Given the description of an element on the screen output the (x, y) to click on. 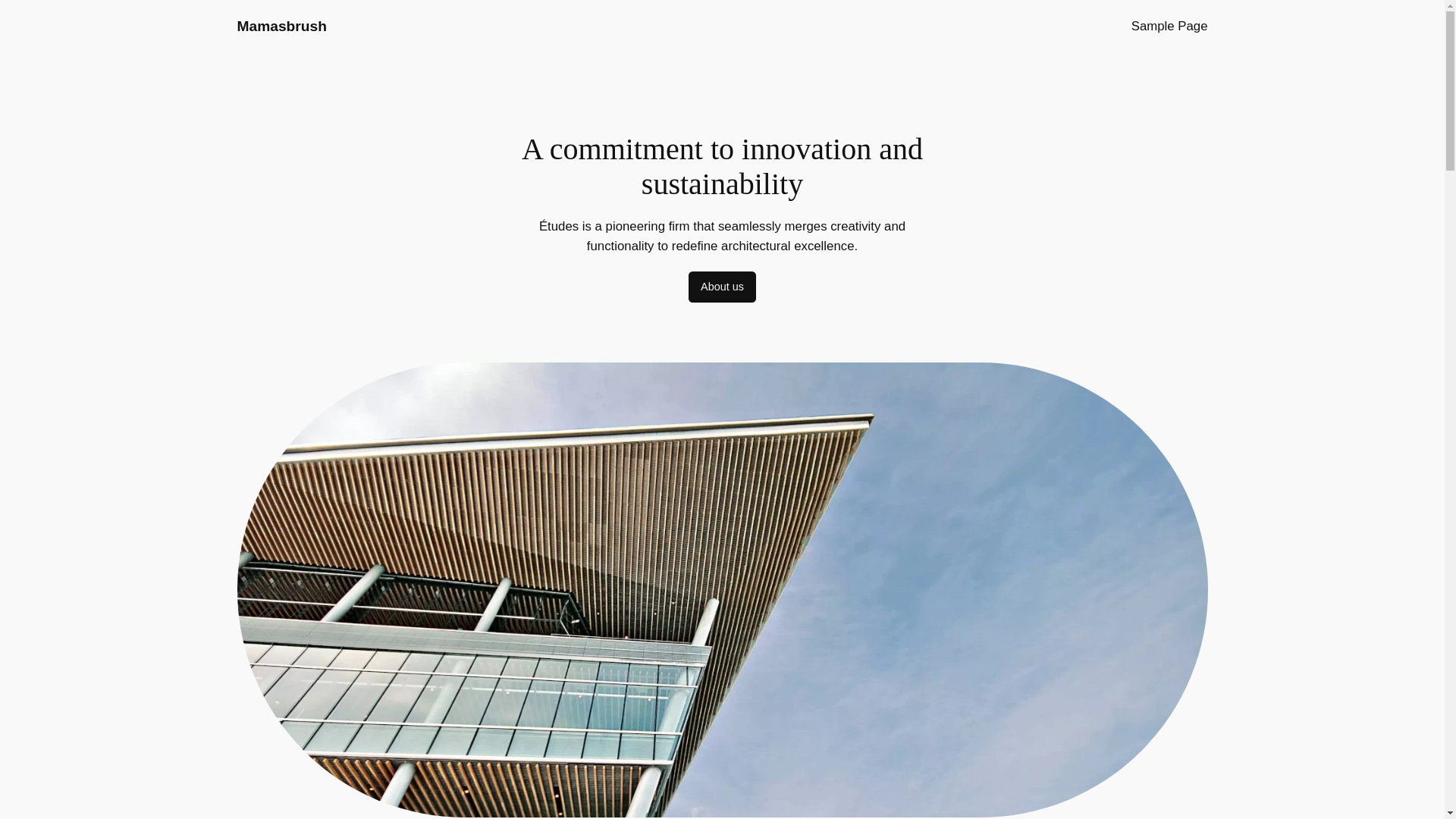
Mamasbrush (280, 26)
About us (721, 287)
Sample Page (1169, 26)
